Given the description of an element on the screen output the (x, y) to click on. 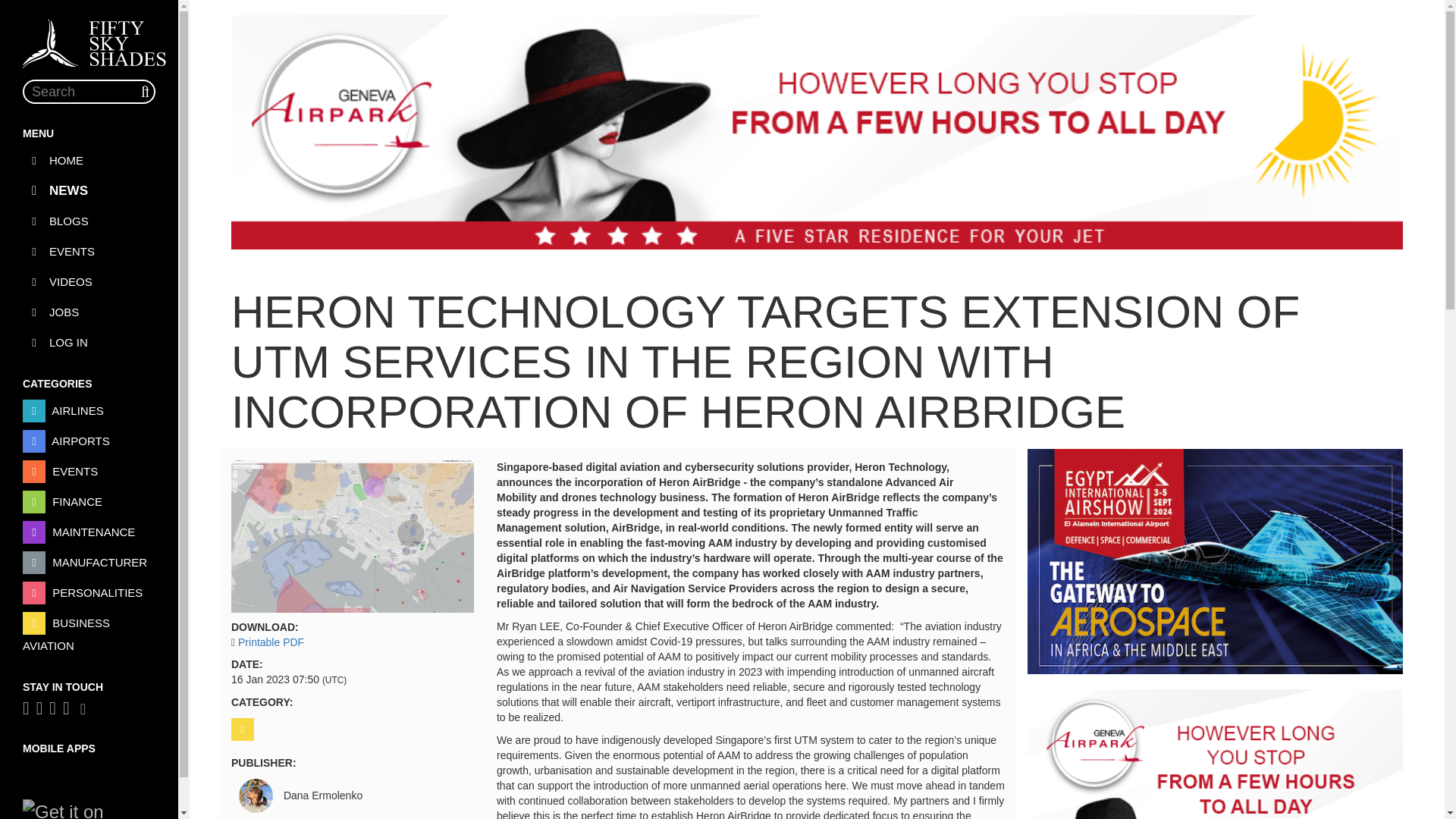
World aviation news (89, 160)
Airports news (89, 440)
Finance news (89, 501)
BLOGS (89, 220)
HOME (89, 160)
MAINTENANCE (89, 531)
NEWS (89, 190)
VIDEOS (89, 282)
Aviation news (89, 190)
EVENTS (89, 471)
AIRLINES (89, 410)
Aviation videos (89, 282)
Aviation events (89, 471)
LOG IN (89, 342)
FINANCE (89, 501)
